Given the description of an element on the screen output the (x, y) to click on. 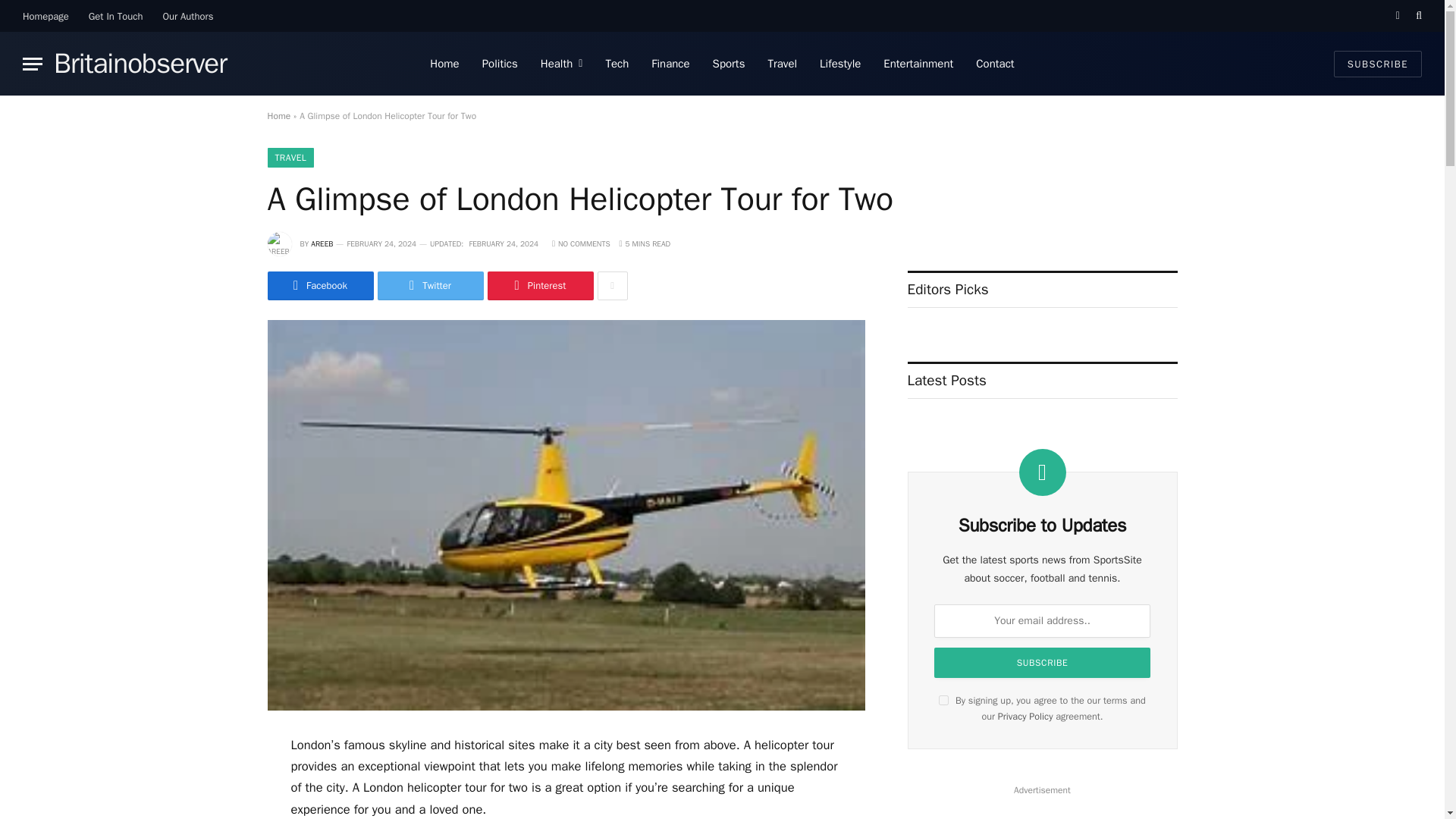
SUBSCRIBE (1377, 62)
Get In Touch (115, 15)
Lifestyle (840, 63)
Finance (670, 63)
Britainobserver (140, 63)
Entertainment (917, 63)
on (944, 700)
Switch to Dark Design - easier on eyes. (1397, 15)
Homepage (45, 15)
Politics (499, 63)
